Given the description of an element on the screen output the (x, y) to click on. 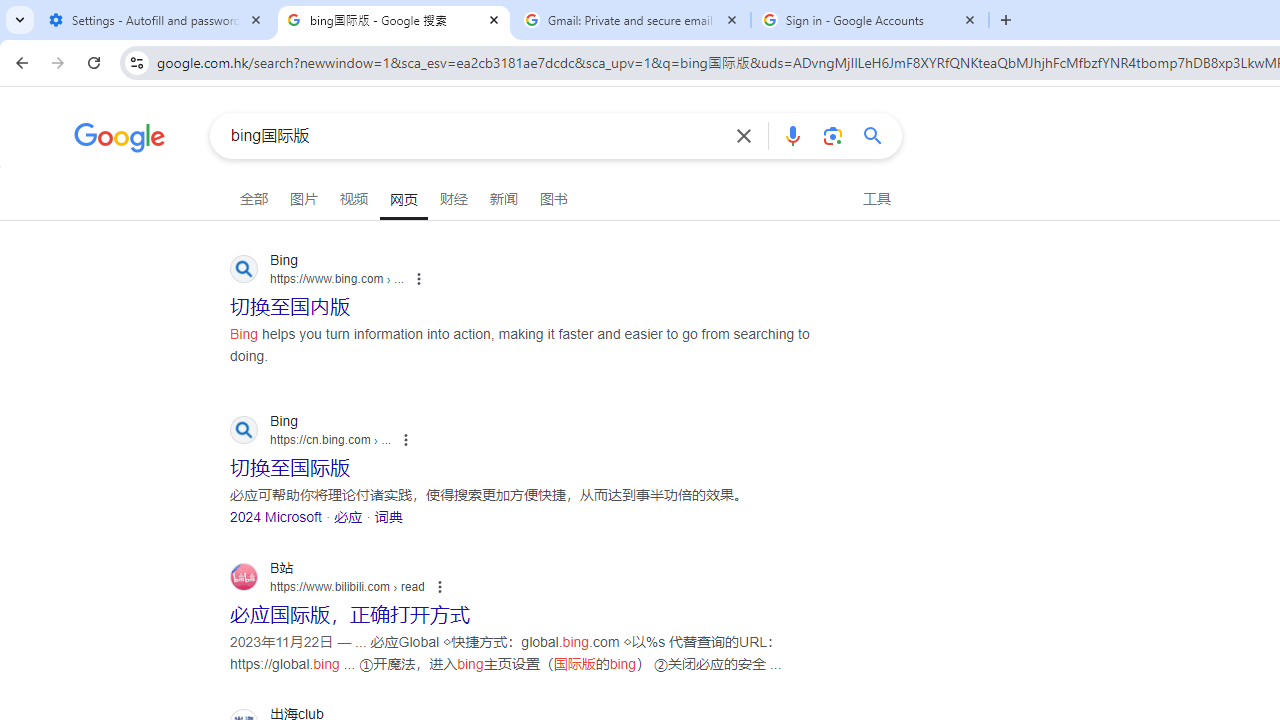
Forward (57, 62)
New Tab (1006, 20)
View site information (136, 62)
